Given the description of an element on the screen output the (x, y) to click on. 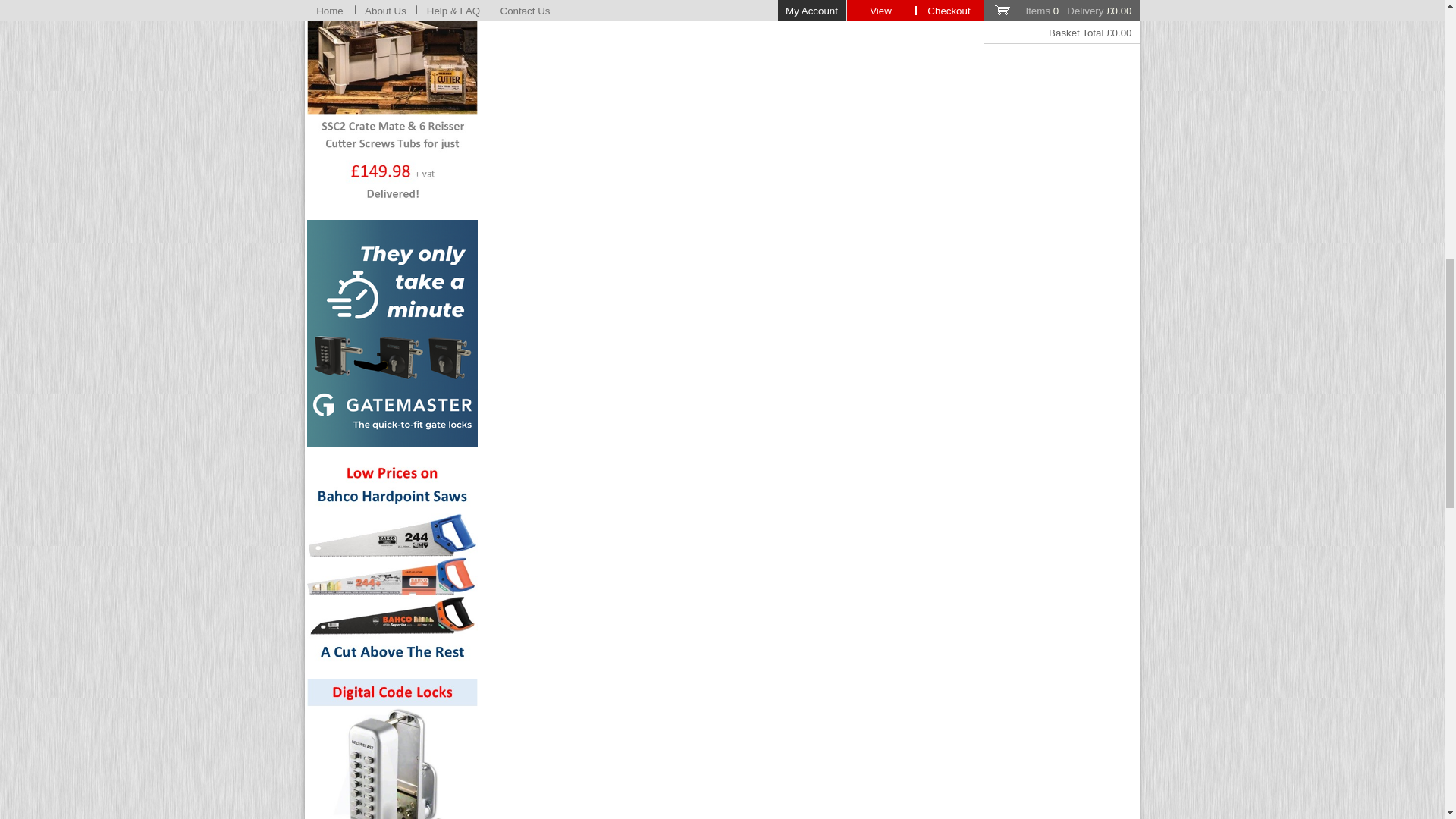
Gatemaster Metal Gate Locks. (392, 333)
Securefast Digital Code Locks. (392, 748)
Bahco Hardpoint Saws. (392, 562)
